Given the description of an element on the screen output the (x, y) to click on. 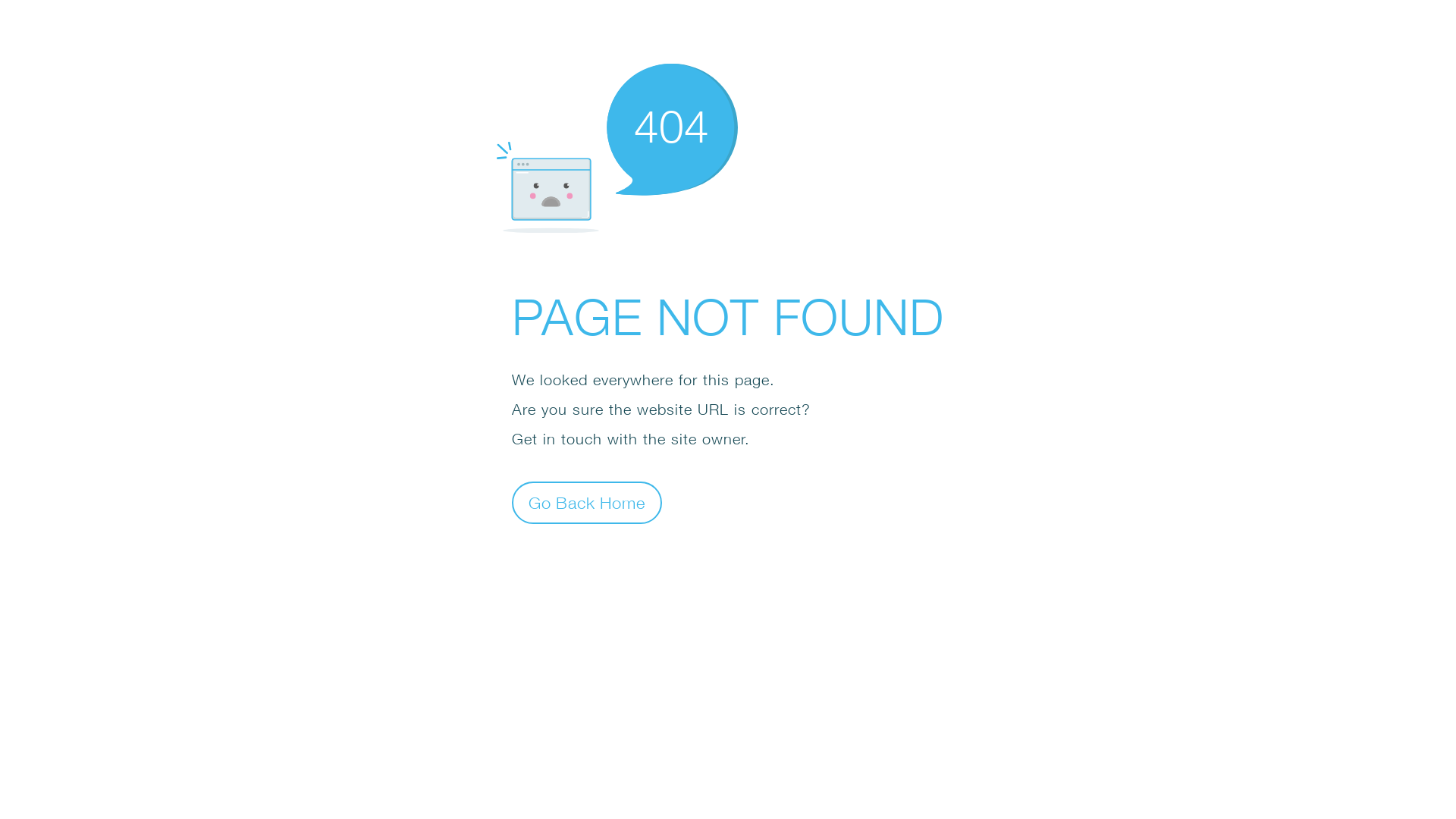
Go Back Home Element type: text (586, 502)
